Given the description of an element on the screen output the (x, y) to click on. 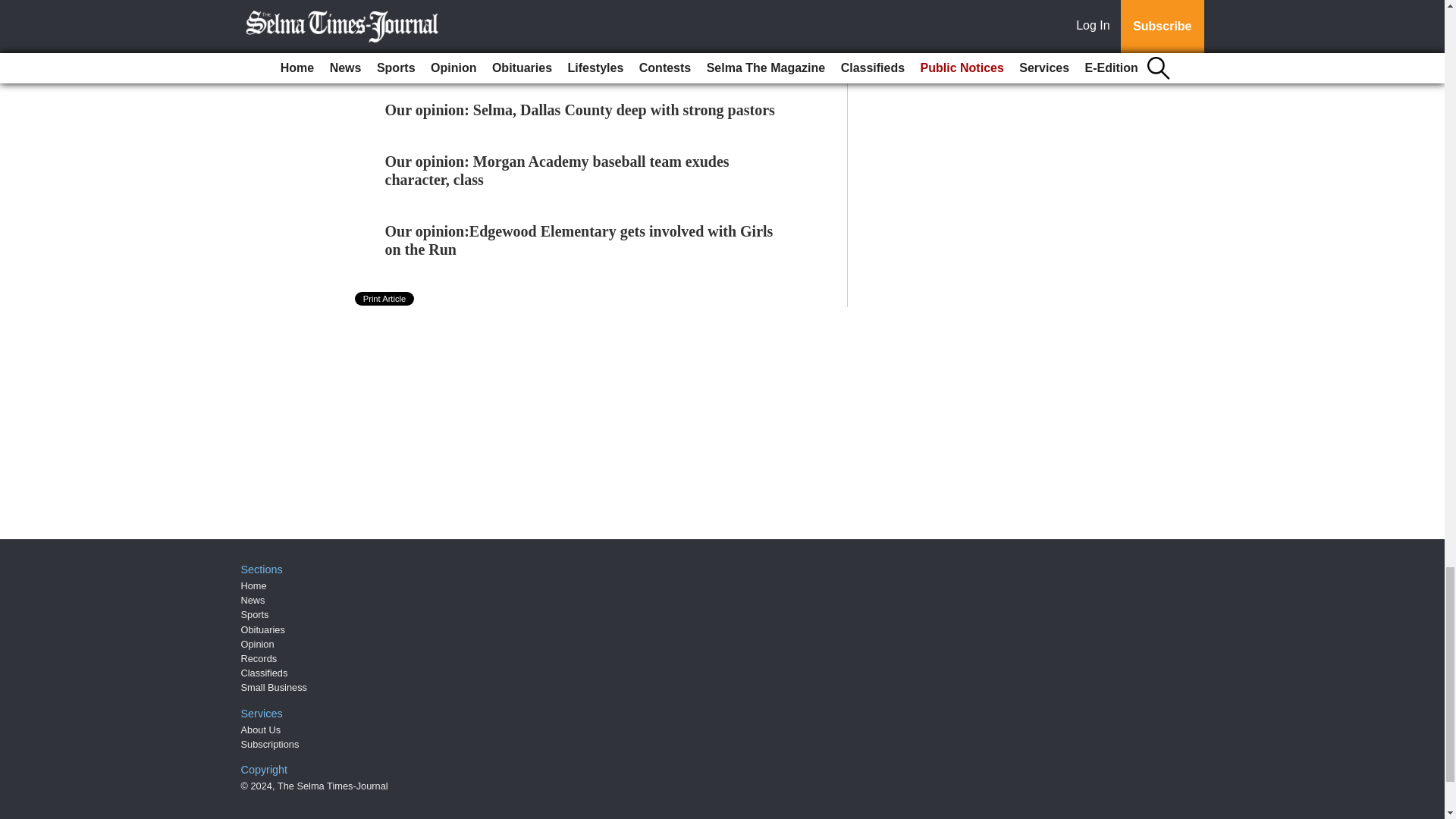
Our opinion: Selma, Dallas County deep with strong pastors (579, 109)
Print Article (384, 298)
Our opinion: Selma, Dallas County deep with strong pastors (579, 109)
